Given the description of an element on the screen output the (x, y) to click on. 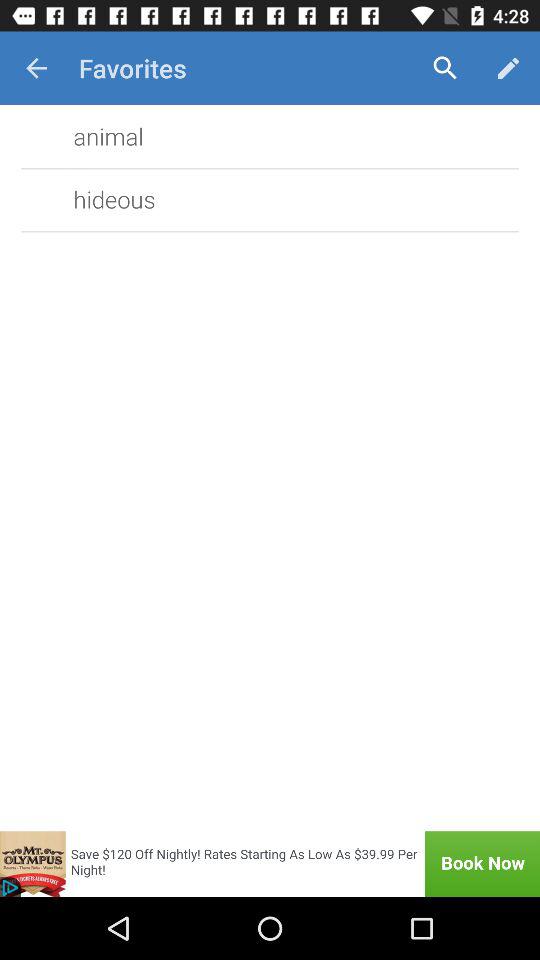
open item next to the favorites item (36, 68)
